Given the description of an element on the screen output the (x, y) to click on. 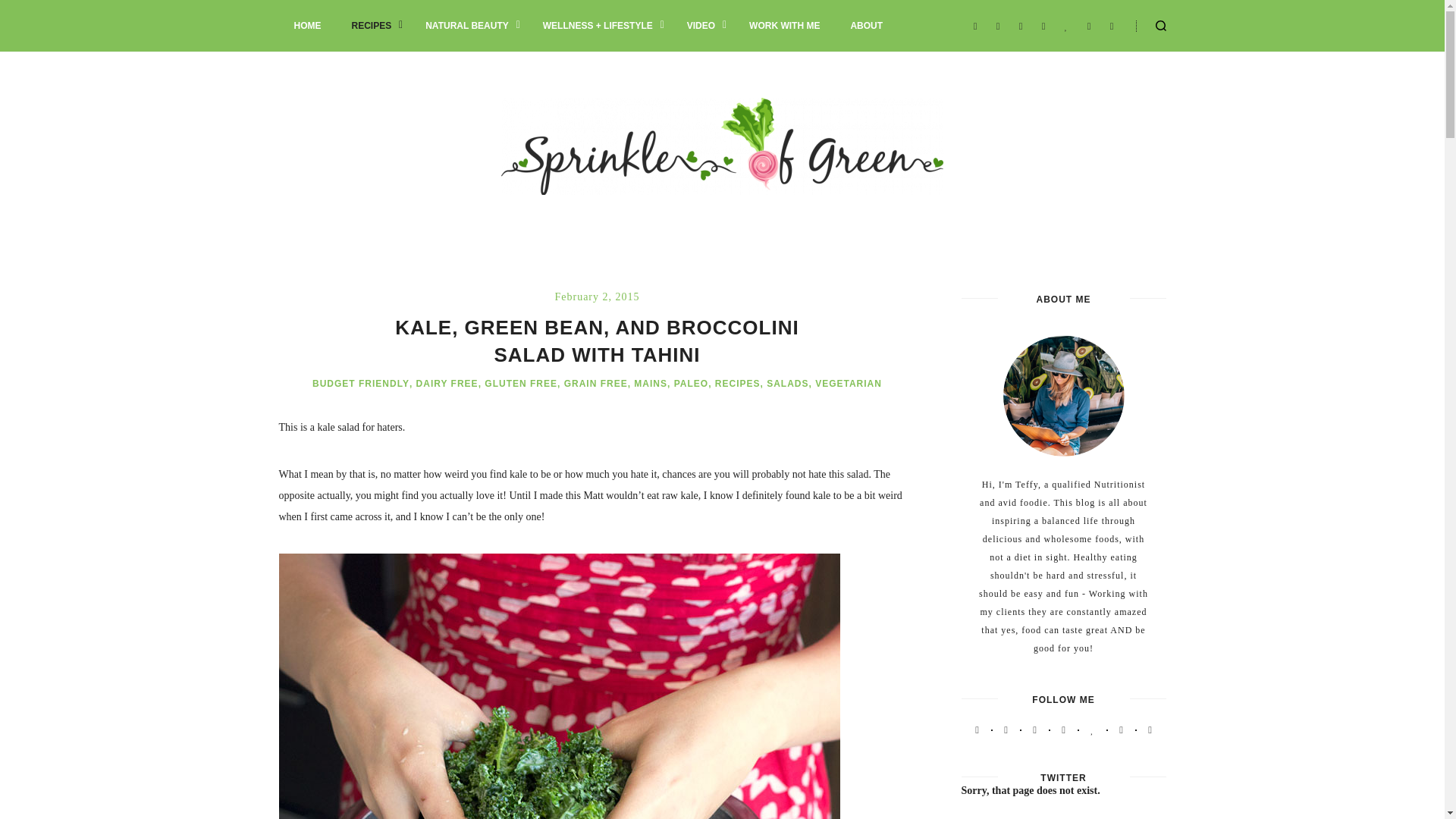
HOME (307, 25)
RECIPES (373, 25)
